Given the description of an element on the screen output the (x, y) to click on. 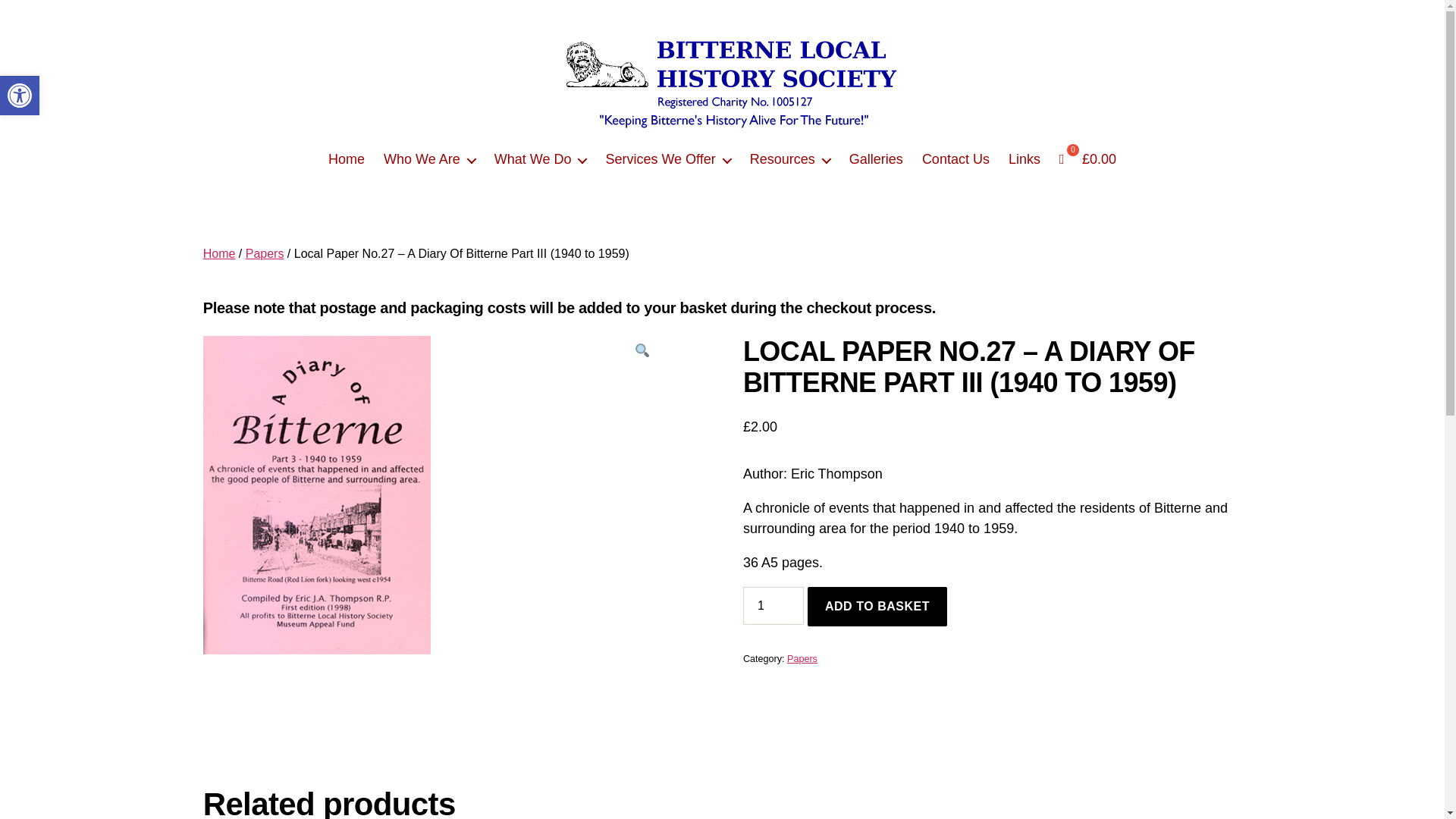
Resources (789, 159)
Links (1025, 159)
Accessibility Tools (19, 95)
What We Do (540, 159)
1 (772, 605)
Services We Offer (667, 159)
Open toolbar (19, 95)
Home (347, 159)
Who We Are (430, 159)
Galleries (875, 159)
Contact Us (955, 159)
